Given the description of an element on the screen output the (x, y) to click on. 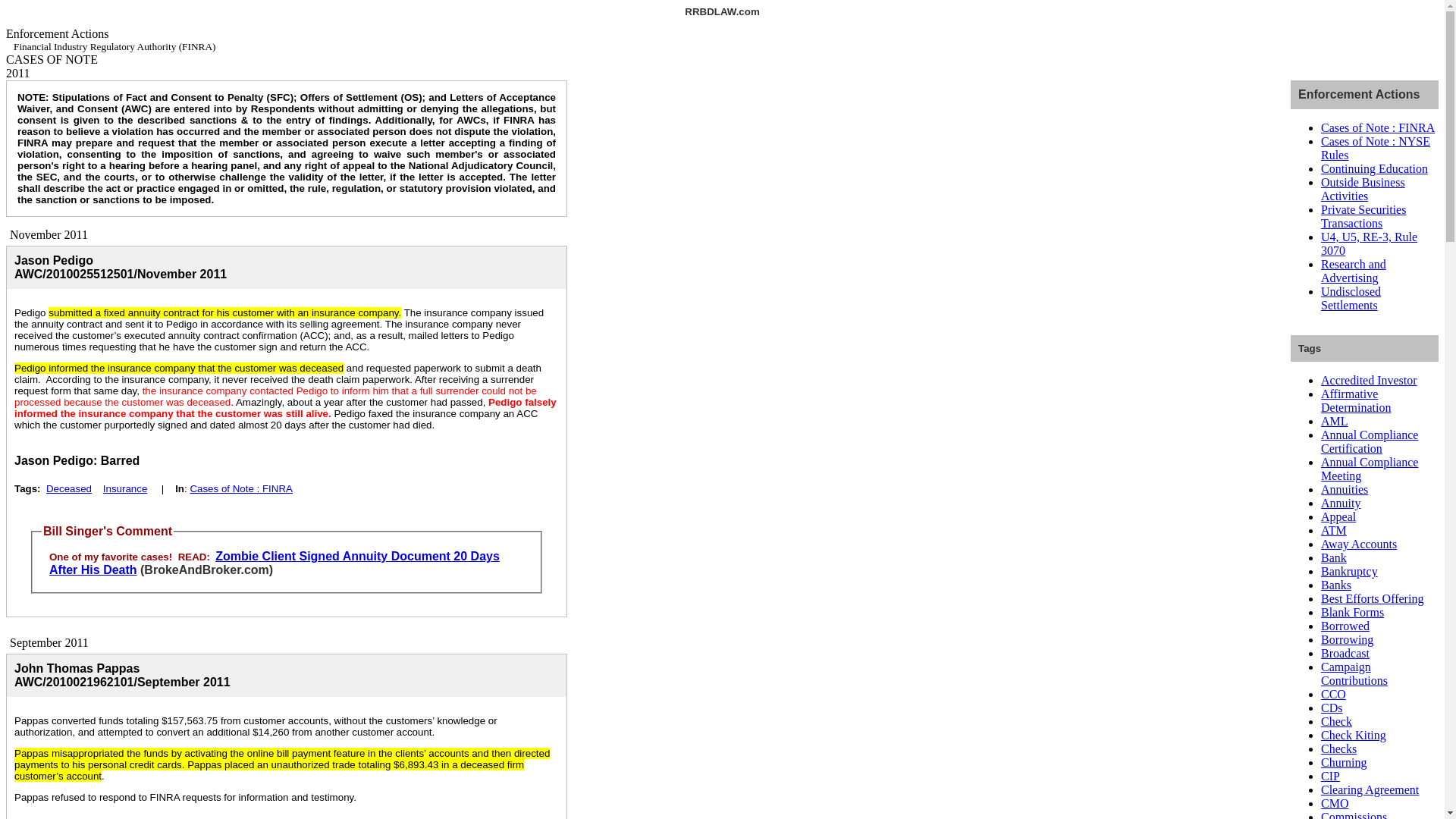
Cases of Note : FINRA (240, 488)
Annual Compliance Meeting (1369, 468)
Insurance (125, 488)
Private Securities Transactions (1363, 216)
AML (1334, 420)
Outside Business Activities (1362, 189)
Accredited Investor (1368, 379)
Bankruptcy (1348, 571)
Away Accounts (1358, 543)
Deceased (68, 488)
Affirmative Determination (1355, 400)
Annuities (1344, 489)
Continuing Education (1374, 168)
Appeal (1337, 516)
Research and Advertising (1353, 270)
